Given the description of an element on the screen output the (x, y) to click on. 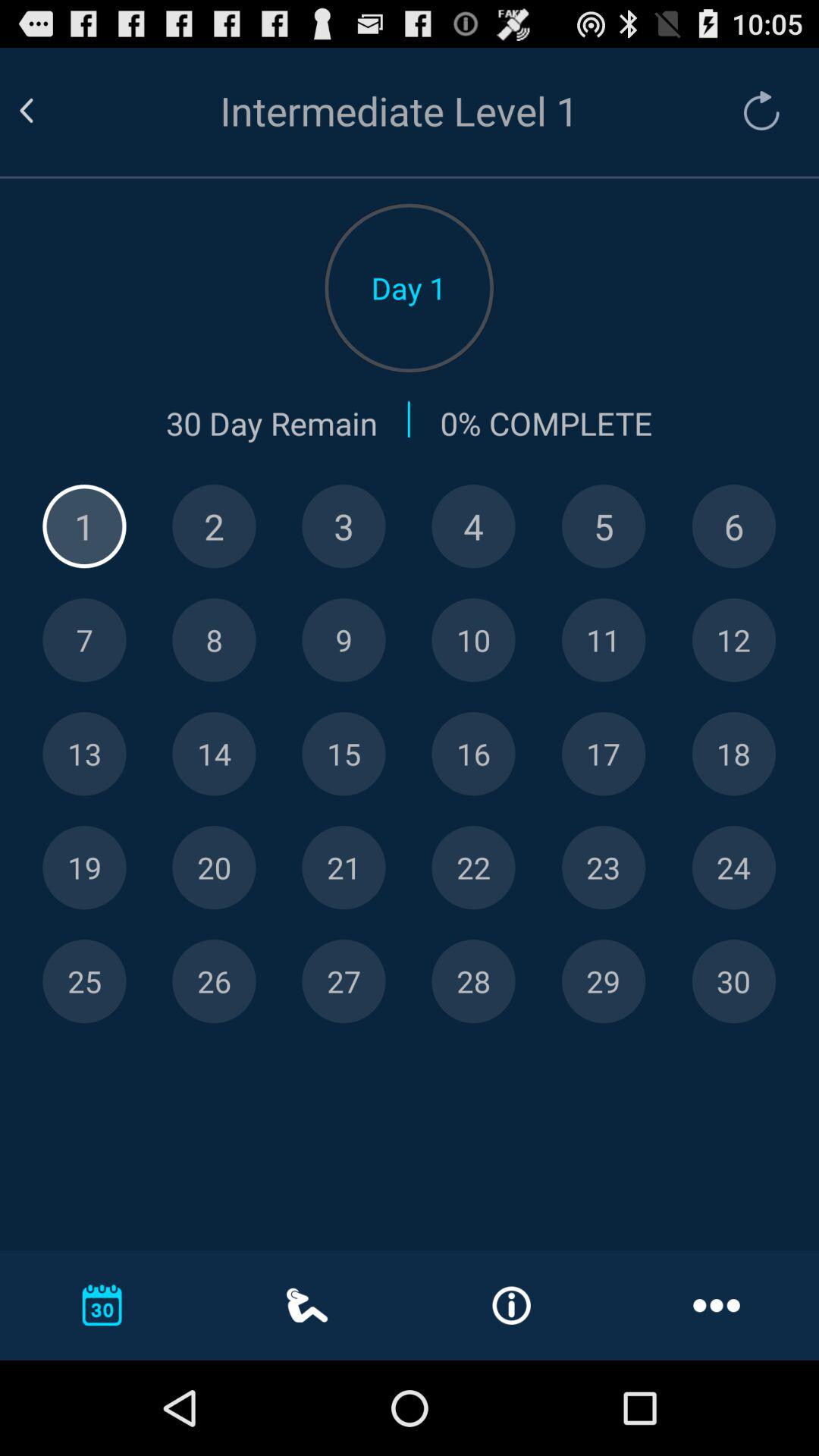
select date (473, 526)
